Given the description of an element on the screen output the (x, y) to click on. 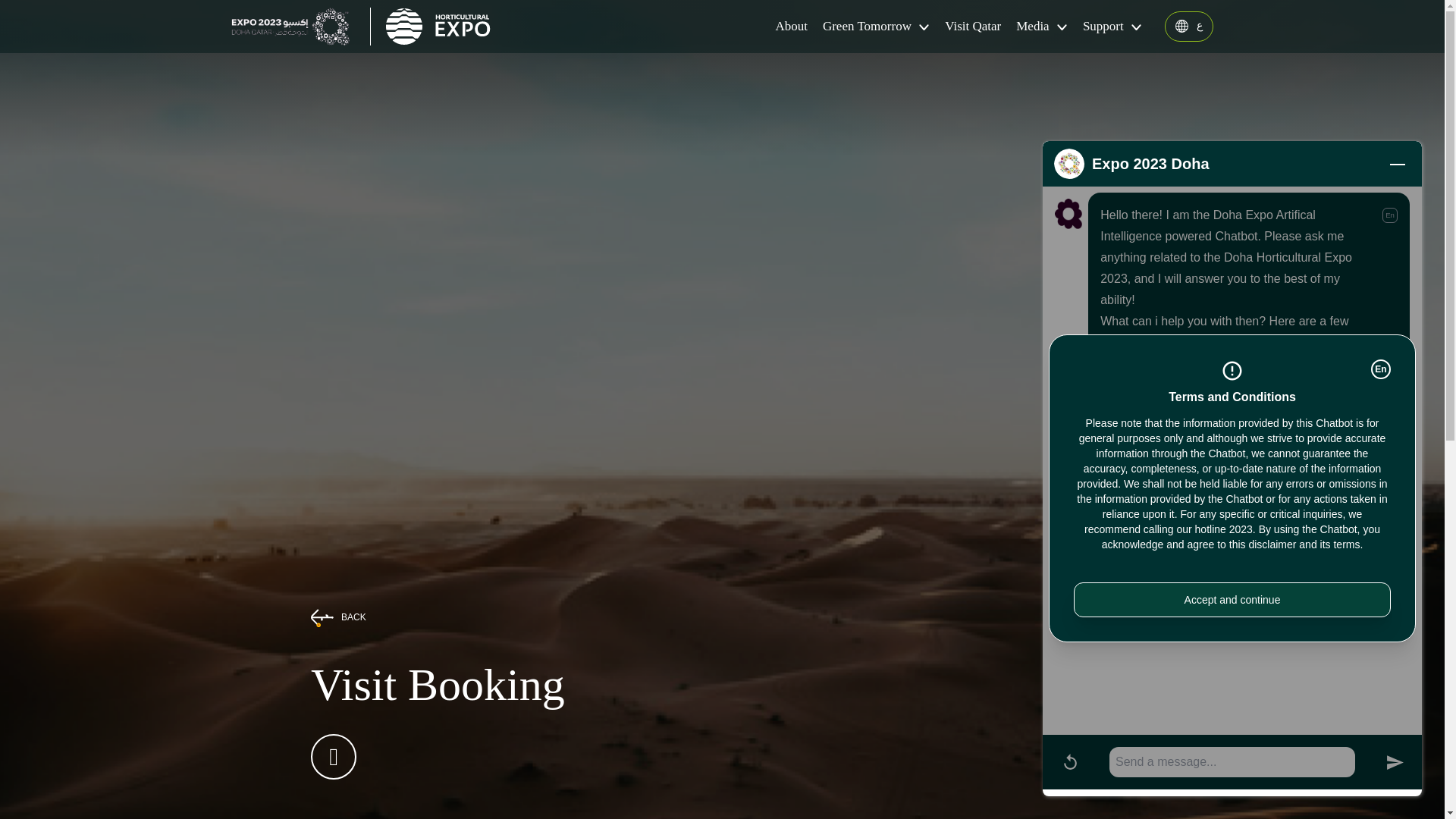
Media (1041, 25)
Expo 2023 (293, 26)
Expo 2023 (437, 26)
About (791, 25)
Chat with us (1277, 695)
Visit Qatar (972, 25)
BACK (437, 617)
Support (1112, 25)
Green Tomorrow (876, 25)
